Given the description of an element on the screen output the (x, y) to click on. 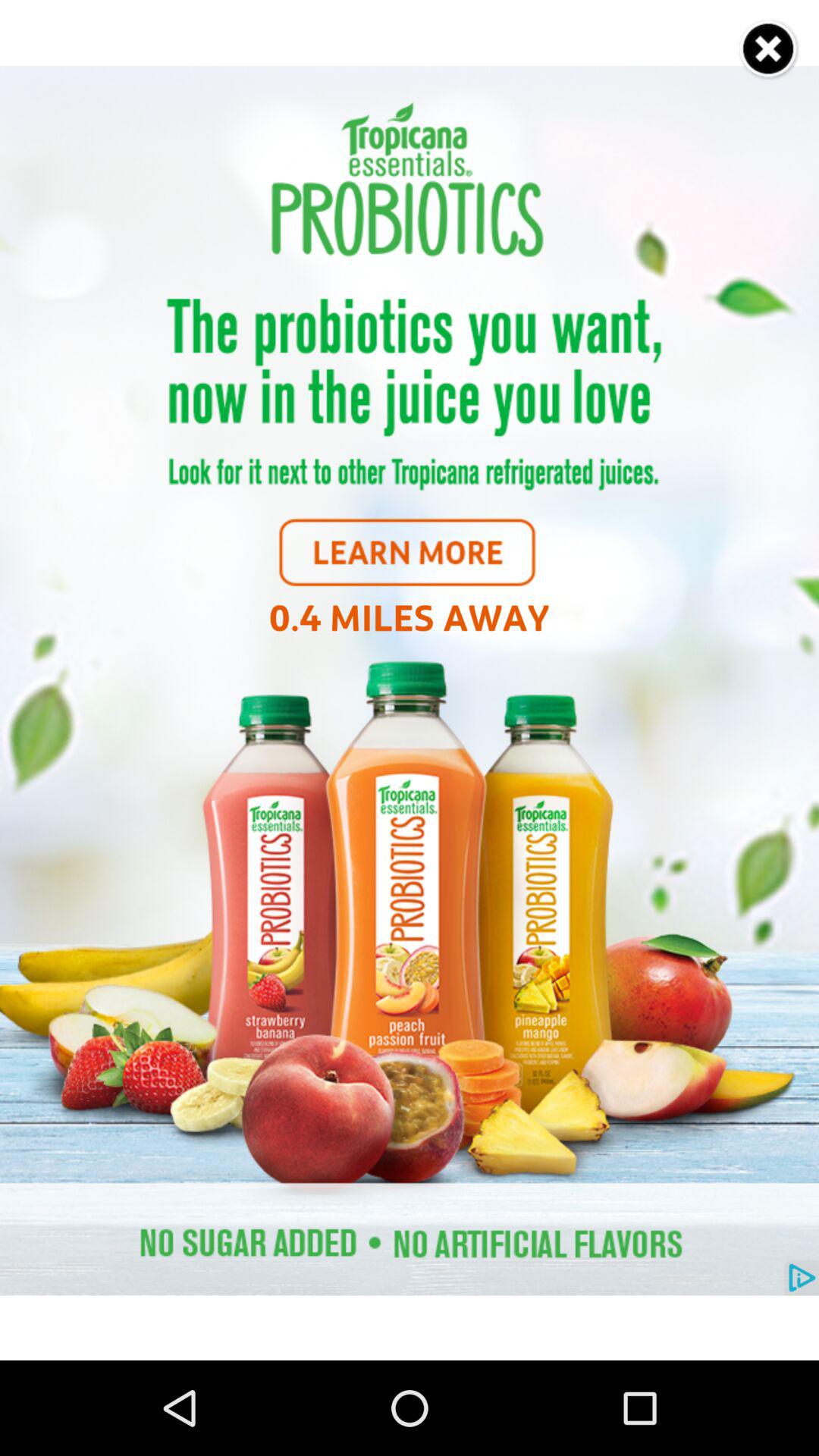
cancel button (769, 49)
